Given the description of an element on the screen output the (x, y) to click on. 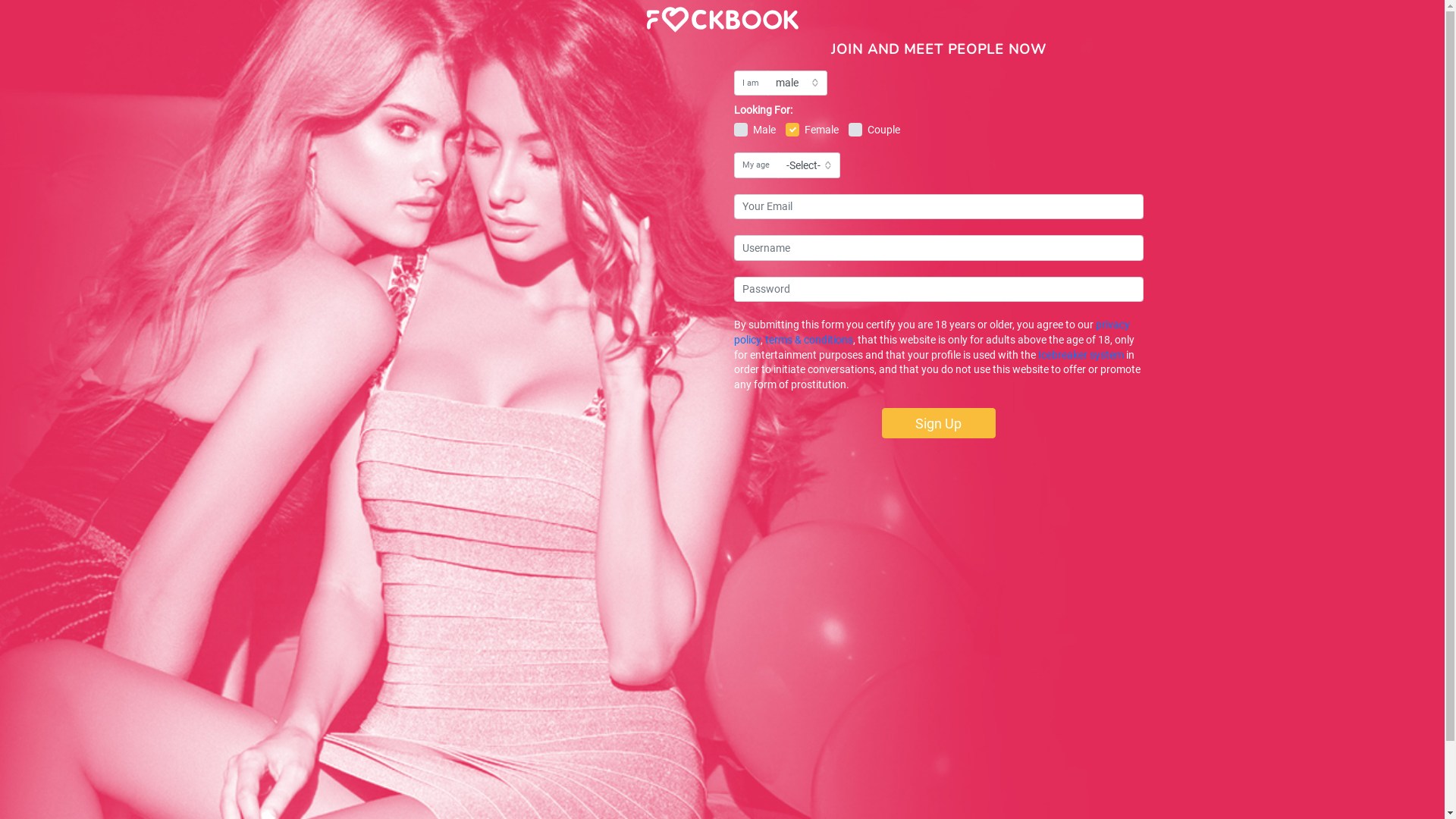
privacy policy Element type: text (931, 331)
Sign Up Element type: text (937, 422)
Icebreaker system Element type: text (1080, 354)
terms & conditions Element type: text (808, 339)
